Given the description of an element on the screen output the (x, y) to click on. 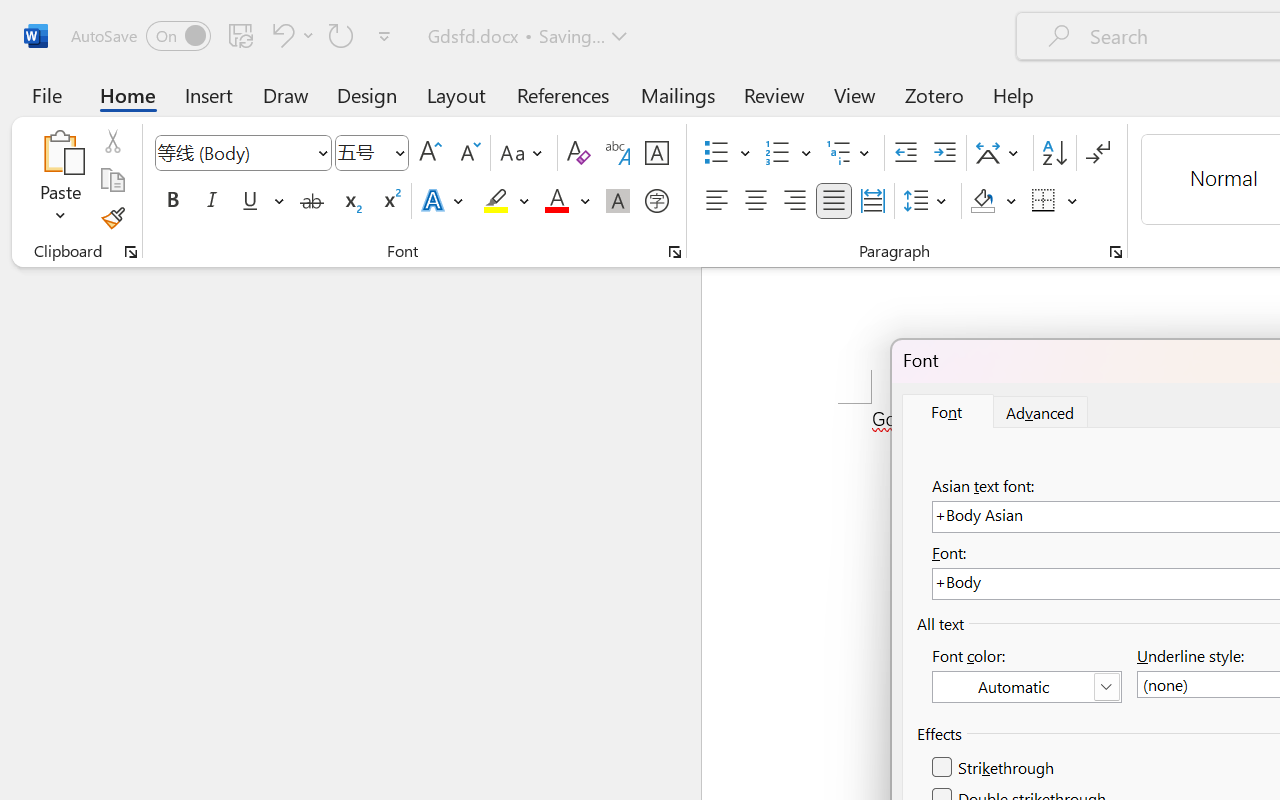
Justify (834, 201)
Text Highlight Color (506, 201)
Show/Hide Editing Marks (1098, 153)
Center (756, 201)
Strikethrough (312, 201)
Text Highlight Color Yellow (495, 201)
